Given the description of an element on the screen output the (x, y) to click on. 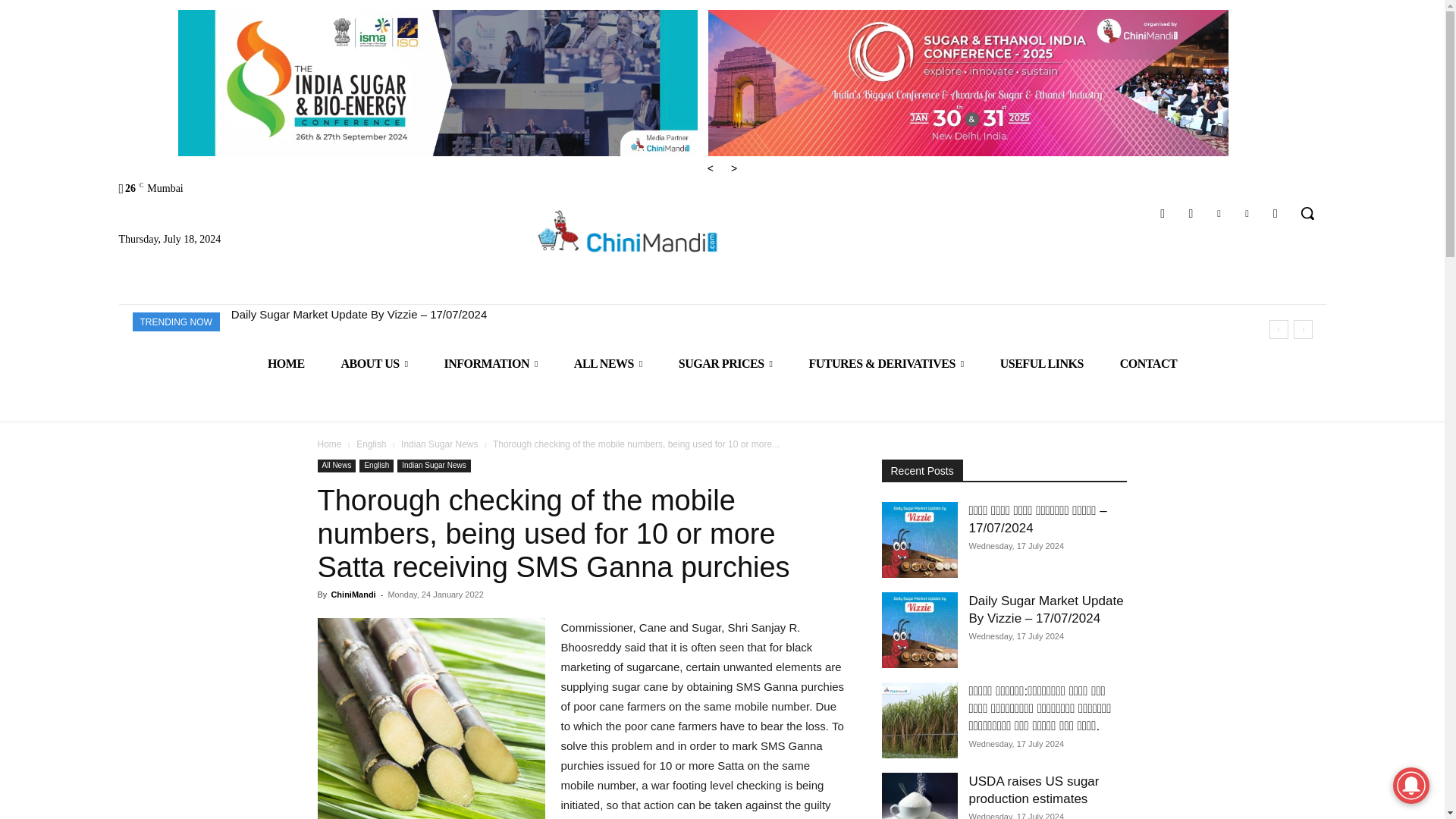
Facebook (1163, 213)
Twitter (1246, 213)
Linkedin (1218, 213)
Instagram (1190, 213)
Youtube (1275, 213)
